Given the description of an element on the screen output the (x, y) to click on. 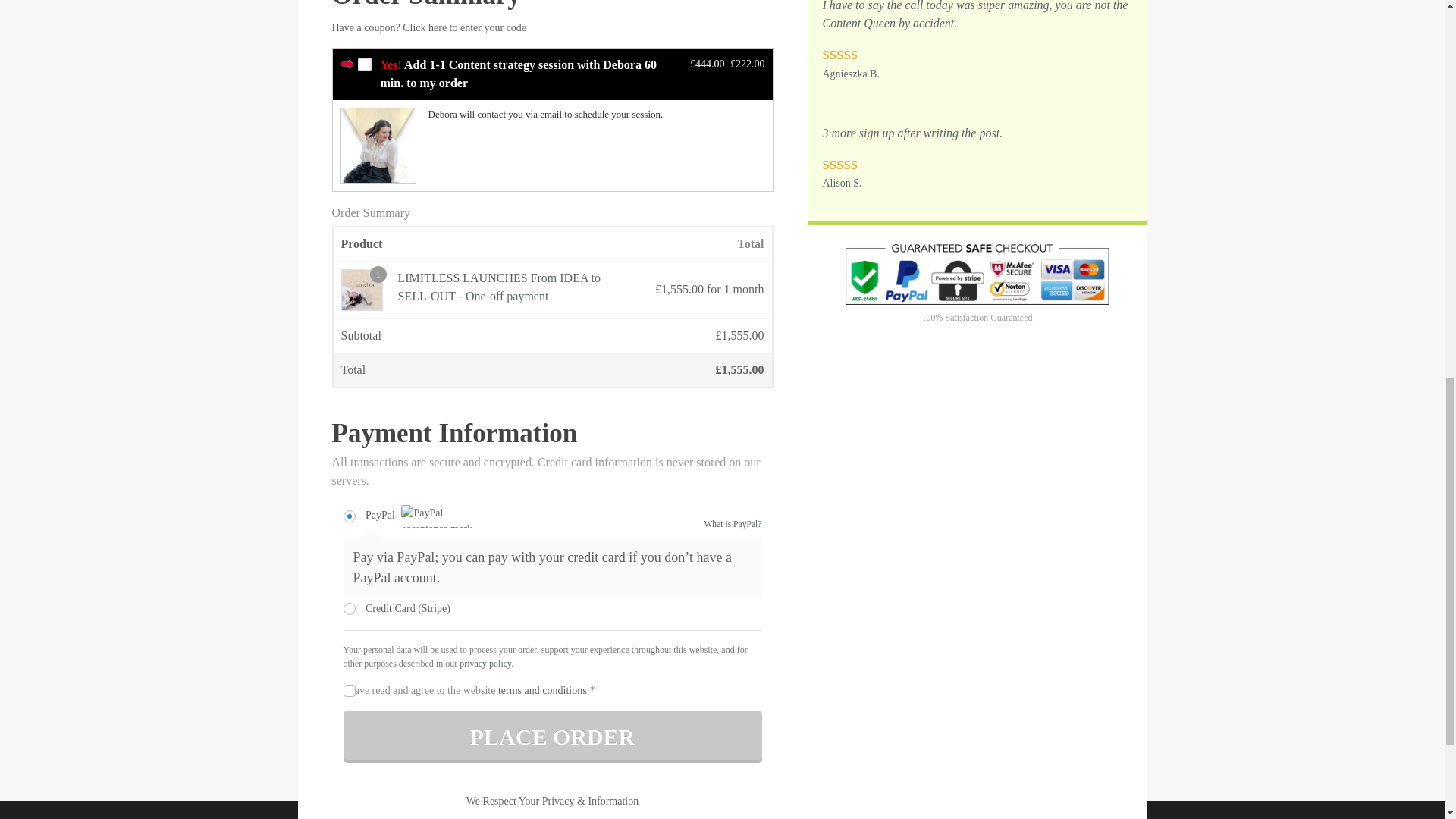
PLACE ORDER (551, 736)
on (348, 690)
terms and conditions (541, 690)
stripe (348, 608)
on (364, 64)
What is PayPal? (732, 524)
paypal (348, 516)
Have a coupon? Click here to enter your code (429, 26)
privacy policy (485, 663)
